Given the description of an element on the screen output the (x, y) to click on. 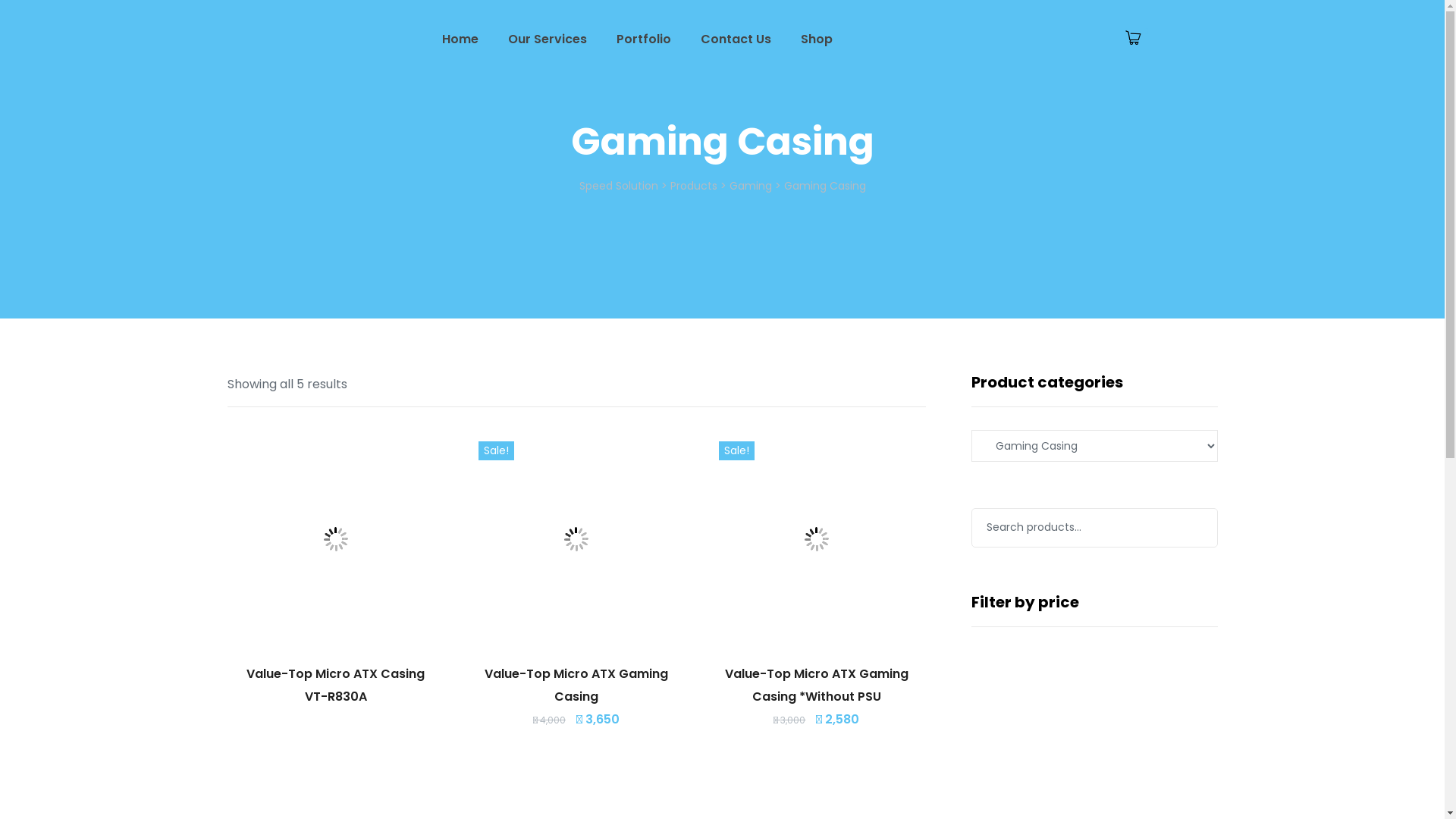
Contact Us Element type: text (735, 39)
0 Element type: text (1136, 39)
Gaming Element type: text (750, 185)
Search Element type: text (44, 19)
Shop Element type: text (816, 39)
Products Element type: text (693, 185)
Home Element type: text (460, 39)
Value-Top Micro ATX Casing VT-R830A Element type: text (335, 685)
Portfolio Element type: text (643, 39)
Our Services Element type: text (547, 39)
Value-Top Micro ATX Gaming Casing Element type: text (576, 685)
Value-Top Micro ATX Gaming Casing *Without PSU Element type: text (816, 685)
Speed Solution Element type: text (618, 185)
